Given the description of an element on the screen output the (x, y) to click on. 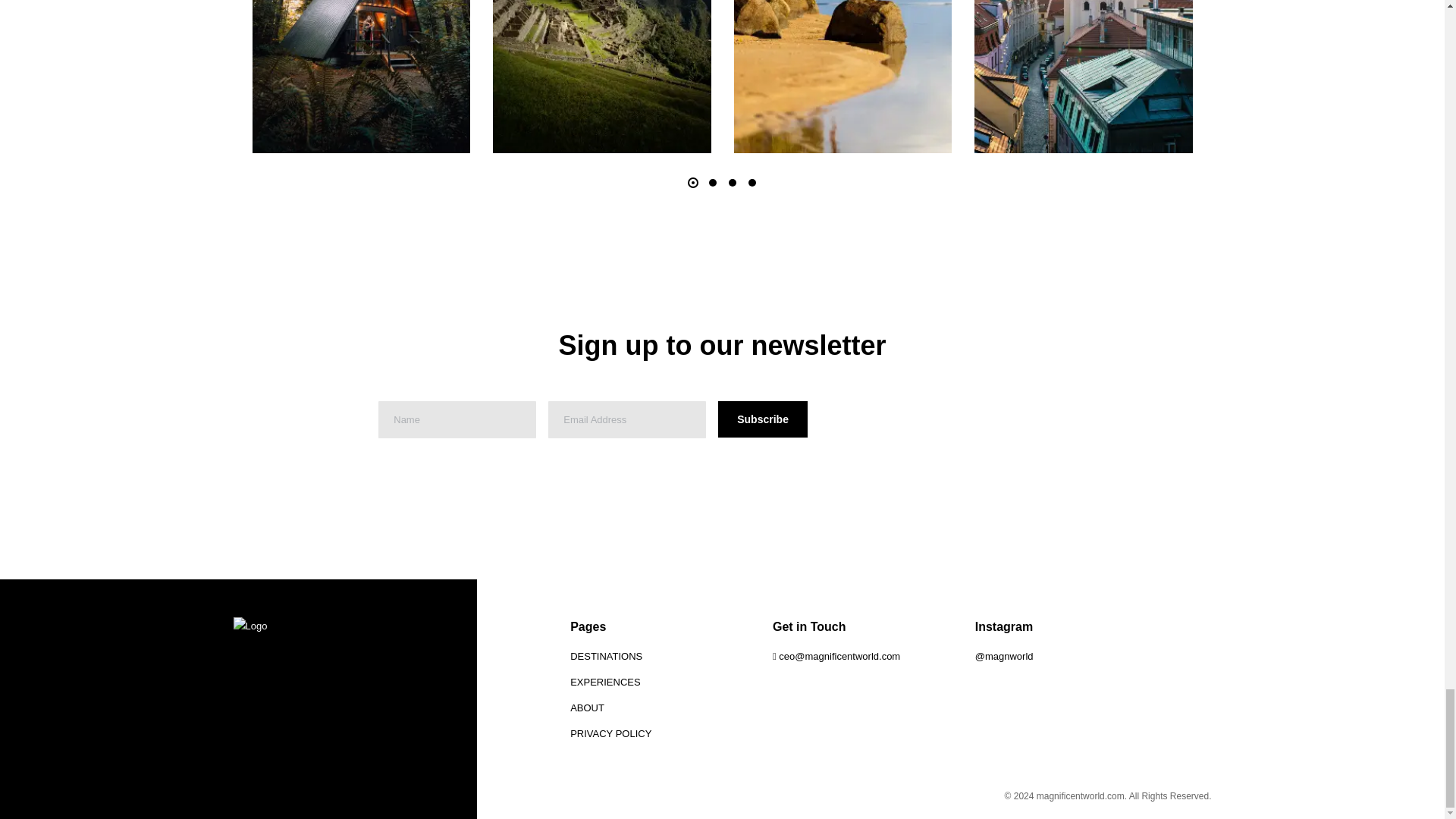
Subscribe (762, 419)
